Given the description of an element on the screen output the (x, y) to click on. 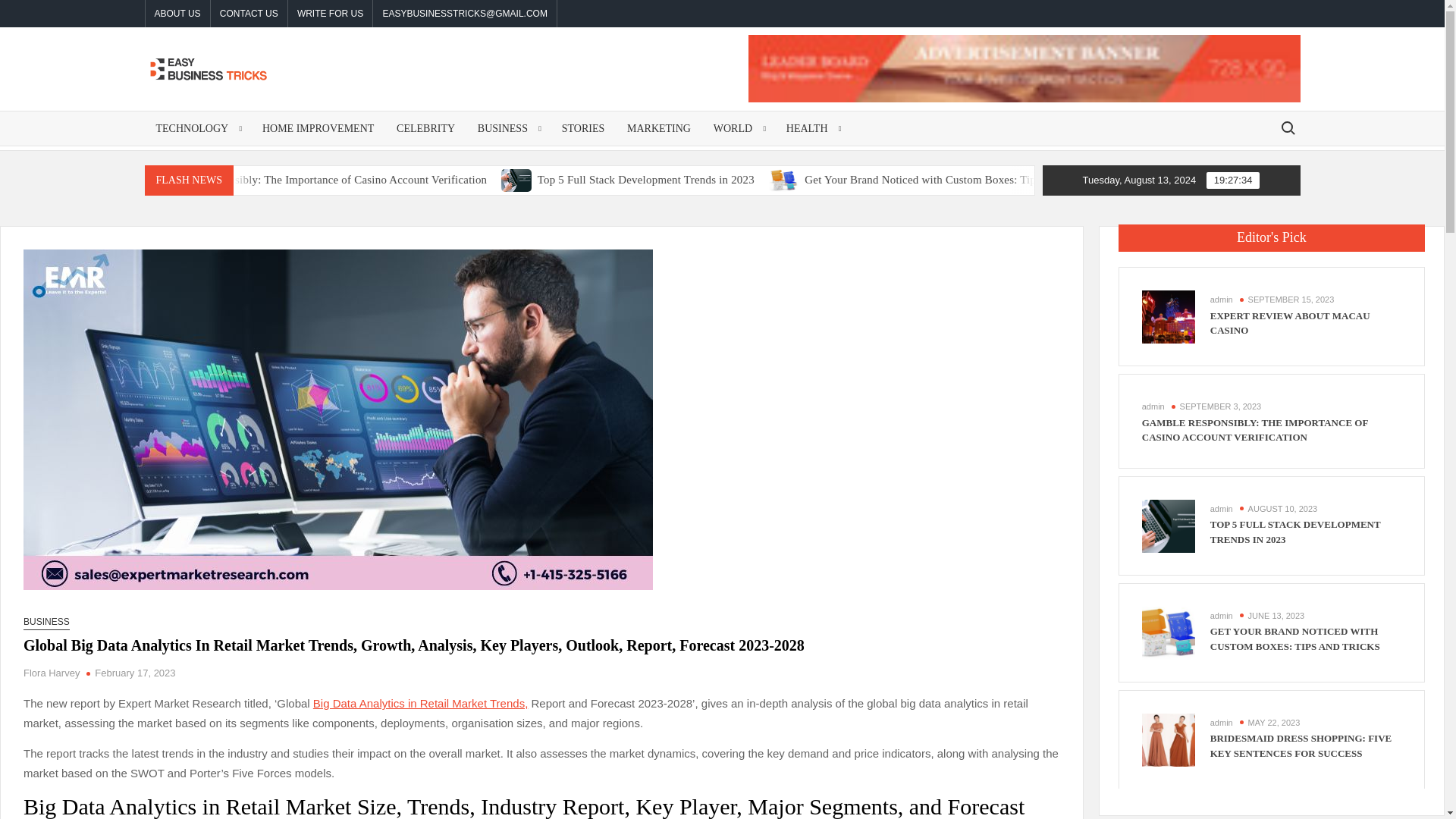
WRITE FOR US (330, 13)
ABOUT US (177, 13)
Expert Review About Macau Casino (176, 179)
CONTACT US (248, 13)
Top 5 Full Stack Development Trends in 2023 (629, 178)
EASY BUSINESS TRICKS (356, 125)
Top 5 Full Stack Development Trends in 2023 (754, 179)
Get Your Brand Noticed with Custom Boxes: Tips and Tricks (892, 178)
Get Your Brand Noticed with Custom Boxes: Tips and Tricks (1052, 179)
